Given the description of an element on the screen output the (x, y) to click on. 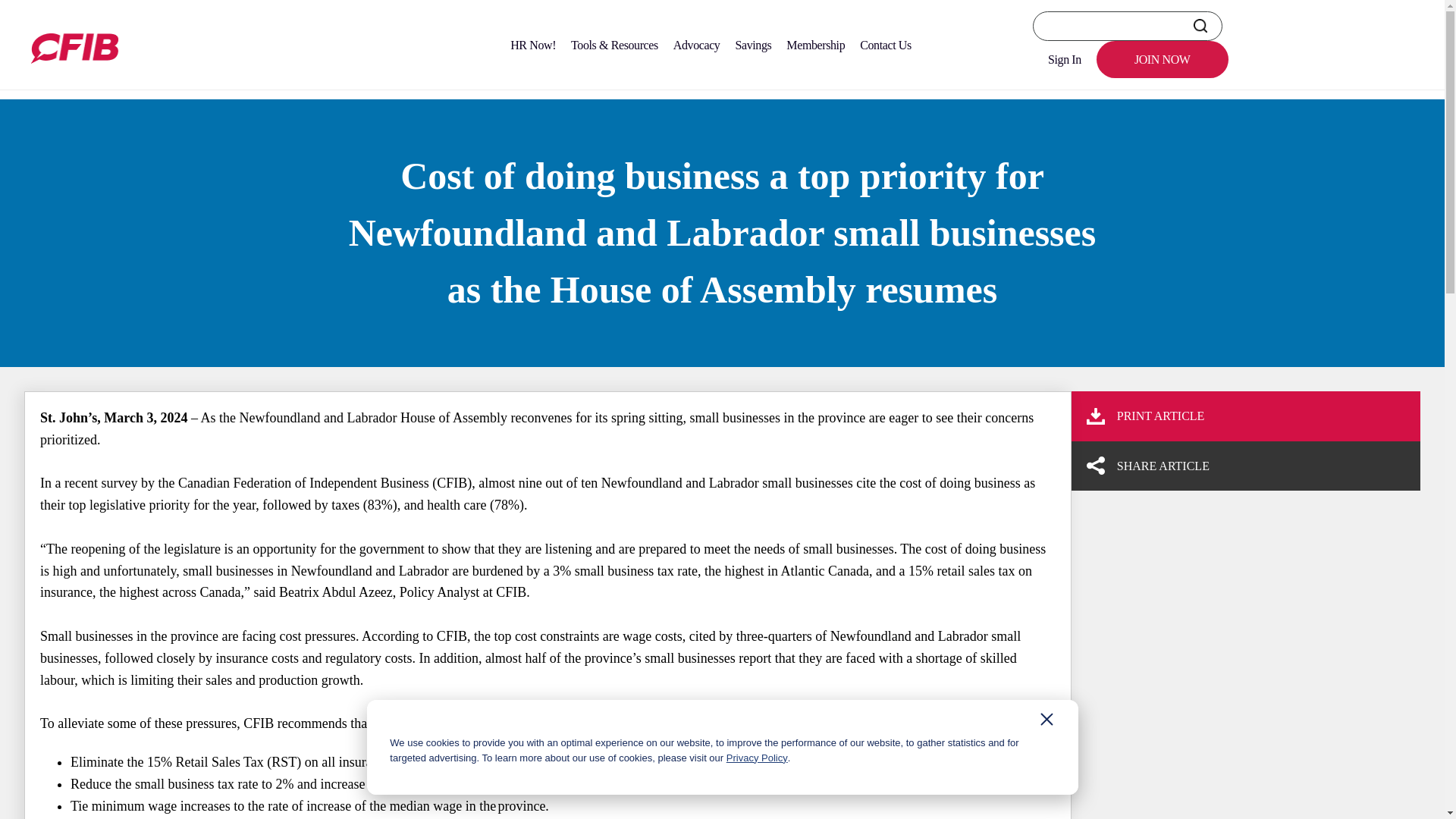
PRINT ARTICLE (1239, 415)
Home (38, 80)
JOIN NOW (1162, 58)
SHARE ARTICLE (1245, 465)
Membership (814, 44)
Search (1200, 25)
Contact Us (884, 44)
Media Centre (101, 80)
Advocacy (696, 44)
Search (1200, 25)
Sign In (1064, 58)
HR Now! (532, 44)
Savings (752, 44)
